Given the description of an element on the screen output the (x, y) to click on. 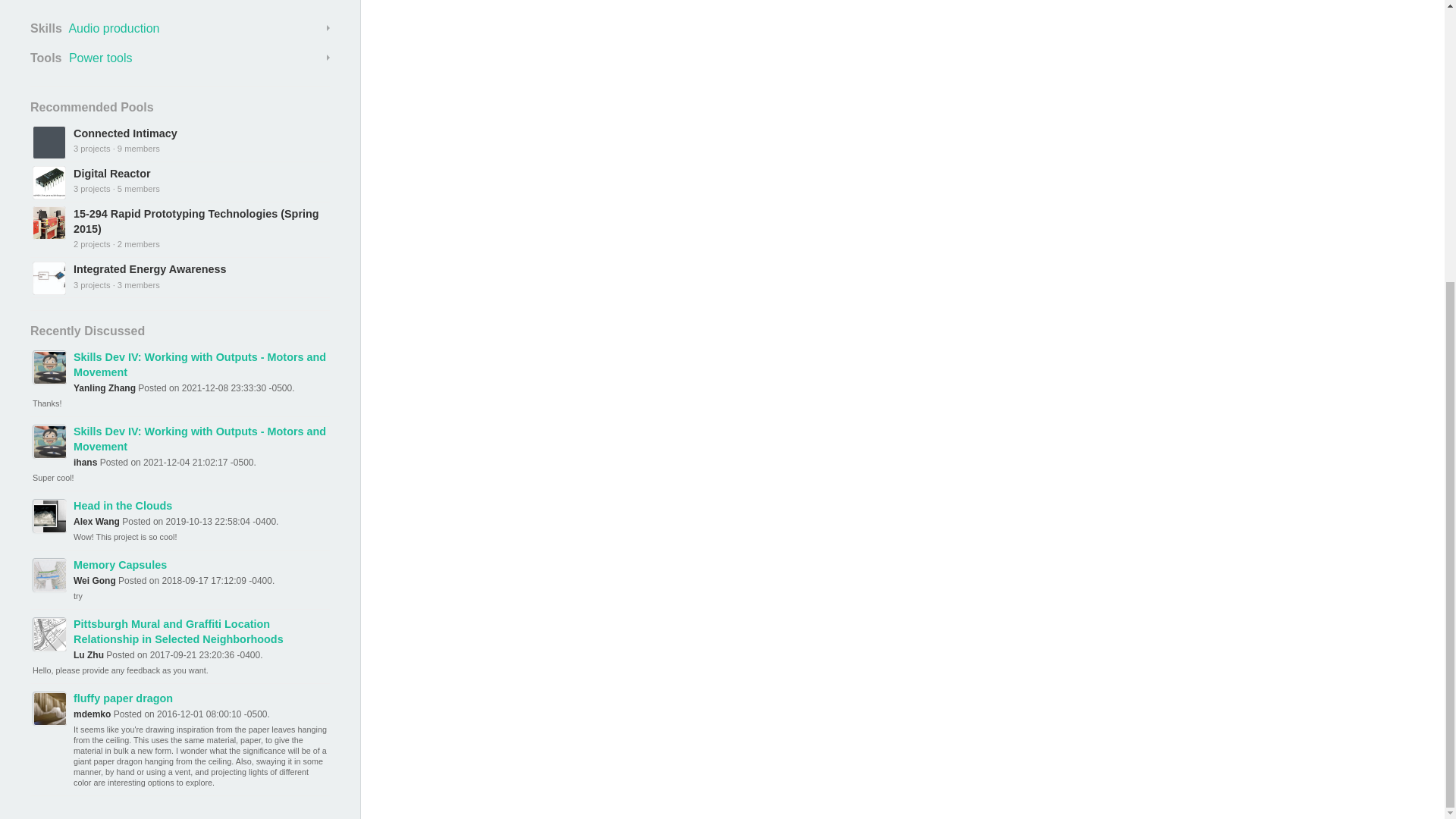
Skills Audio production (180, 28)
